Given the description of an element on the screen output the (x, y) to click on. 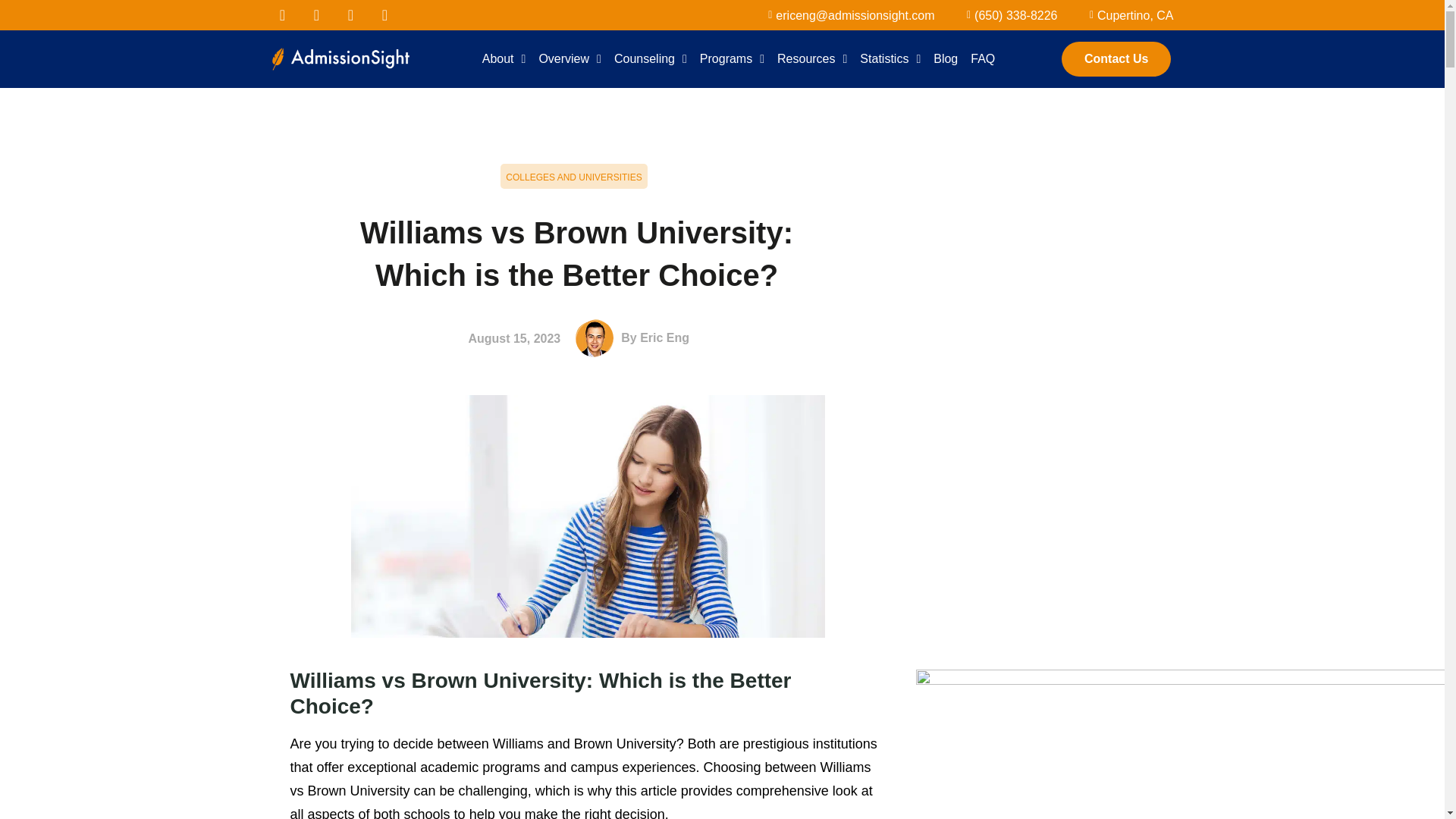
Facebook (281, 15)
Programs (731, 59)
Instagram (384, 15)
Overview (569, 59)
About (504, 59)
Twitter (316, 15)
Linkedin (349, 15)
Counseling (650, 59)
